Given the description of an element on the screen output the (x, y) to click on. 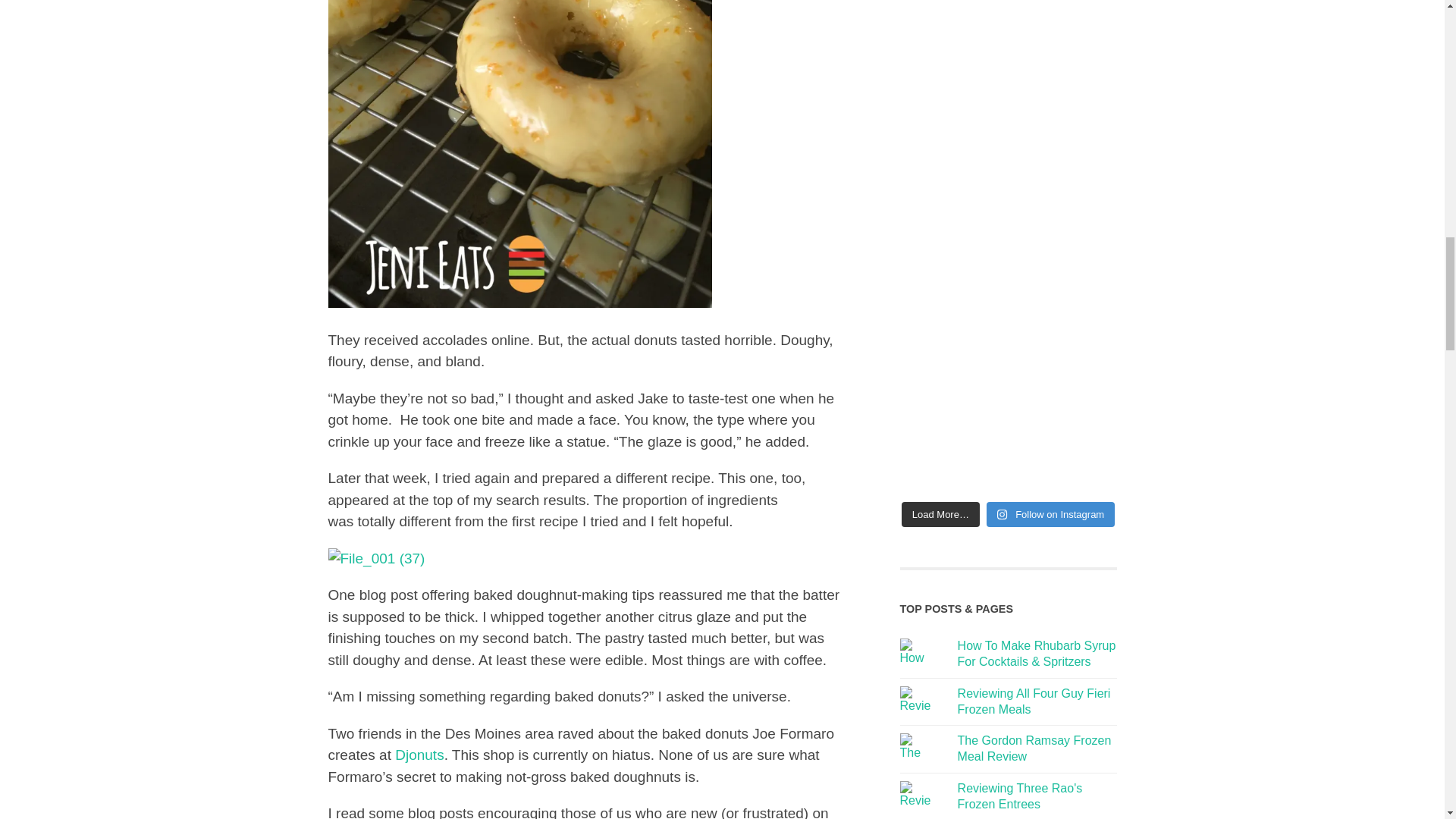
Djonuts (419, 754)
